Given the description of an element on the screen output the (x, y) to click on. 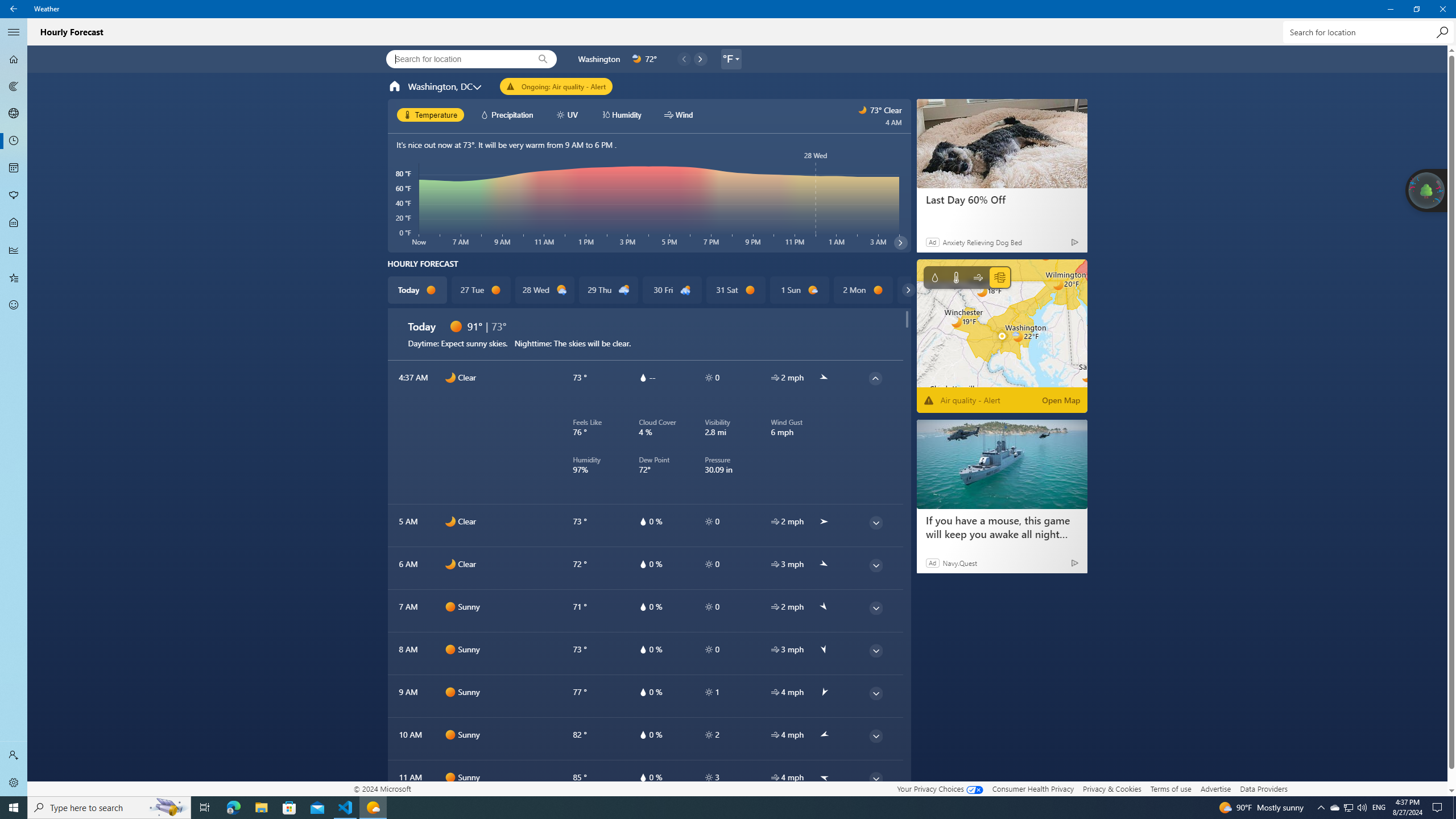
Maps - Not Selected (13, 85)
Tray Input Indicator - English (United States) (1378, 807)
Microsoft Store (289, 807)
Historical Weather - Not Selected (13, 249)
Q2790: 100% (1361, 807)
Collapse Navigation (13, 31)
Search (1442, 31)
Visual Studio Code - 1 running window (345, 807)
Pollen - Not Selected (13, 195)
Send Feedback - Not Selected (13, 304)
Restore Weather (1416, 9)
Weather - 1 running window (373, 807)
Back (13, 9)
Hourly Forecast - Not Selected (13, 140)
Forecast - Not Selected (13, 58)
